Given the description of an element on the screen output the (x, y) to click on. 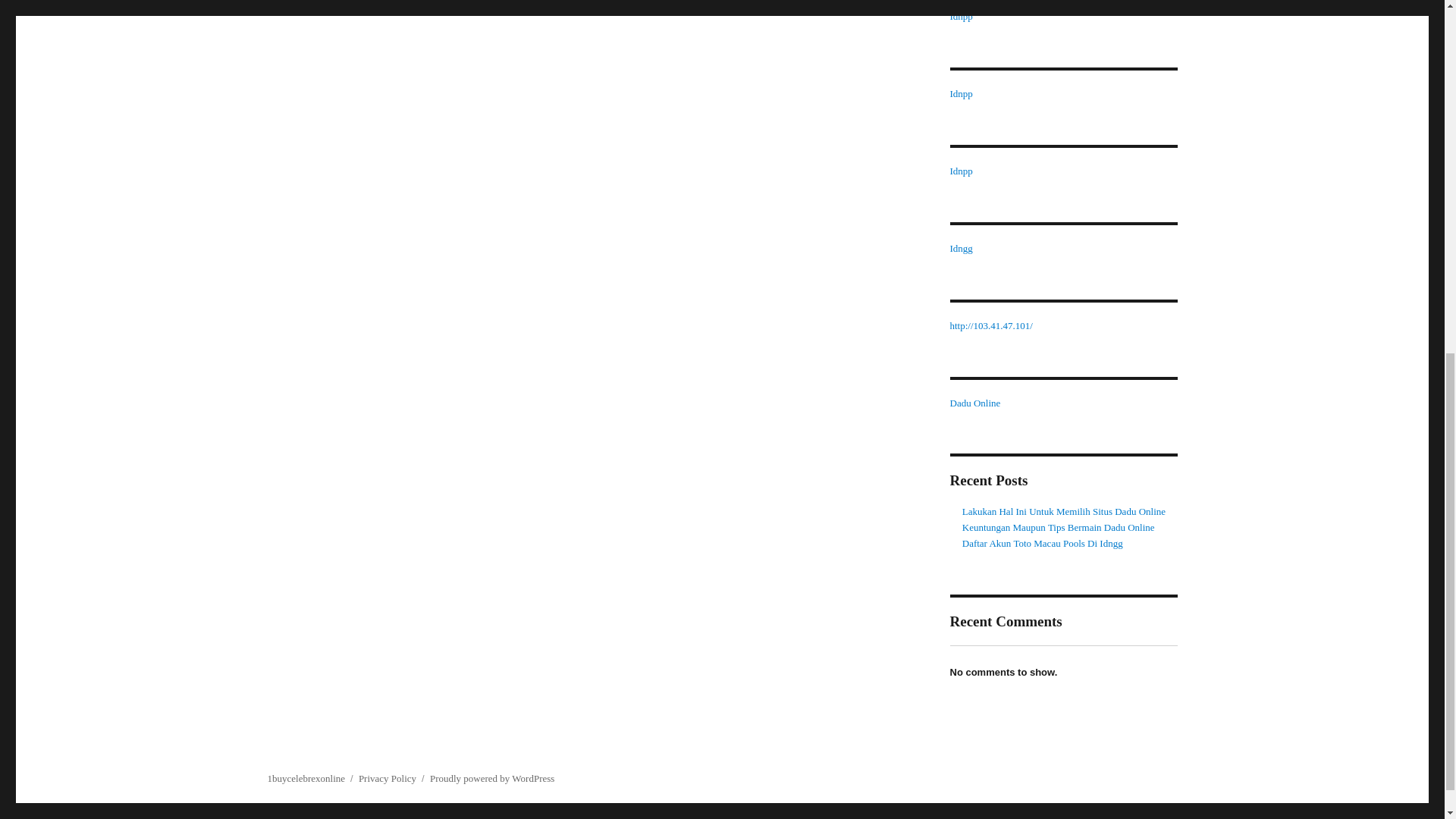
Dadu Online (974, 402)
Lakukan Hal Ini Untuk Memilih Situs Dadu Online (1064, 511)
Idngg (960, 247)
Idnpp (960, 16)
Privacy Policy (387, 778)
Idnpp (960, 93)
Proudly powered by WordPress (491, 778)
Daftar Akun Toto Macau Pools Di Idngg (1042, 542)
Keuntungan Maupun Tips Bermain Dadu Online (1058, 527)
Idnpp (960, 170)
1buycelebrexonline (305, 778)
